Given the description of an element on the screen output the (x, y) to click on. 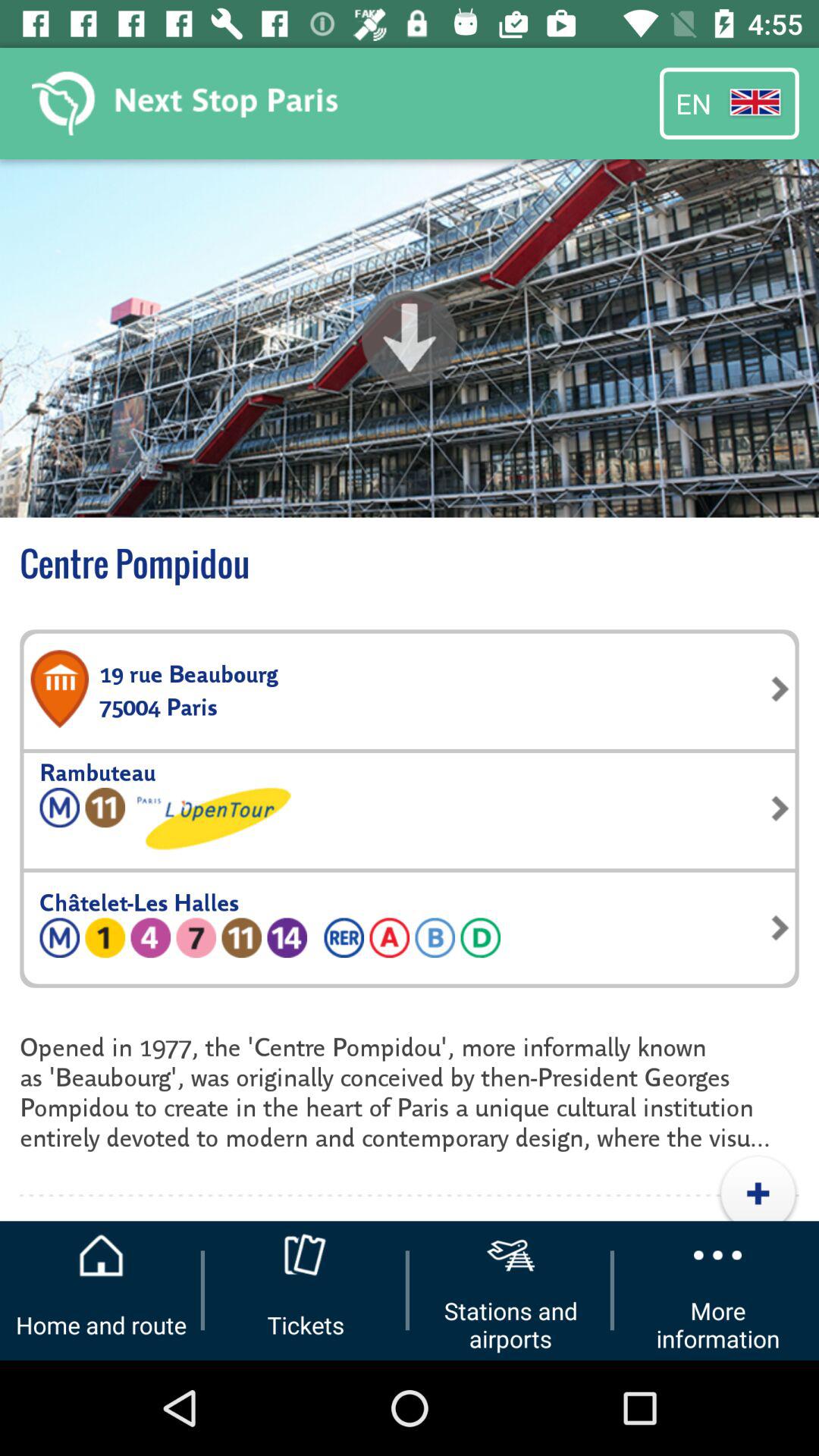
open the icon below opened in 1977 (758, 1187)
